Given the description of an element on the screen output the (x, y) to click on. 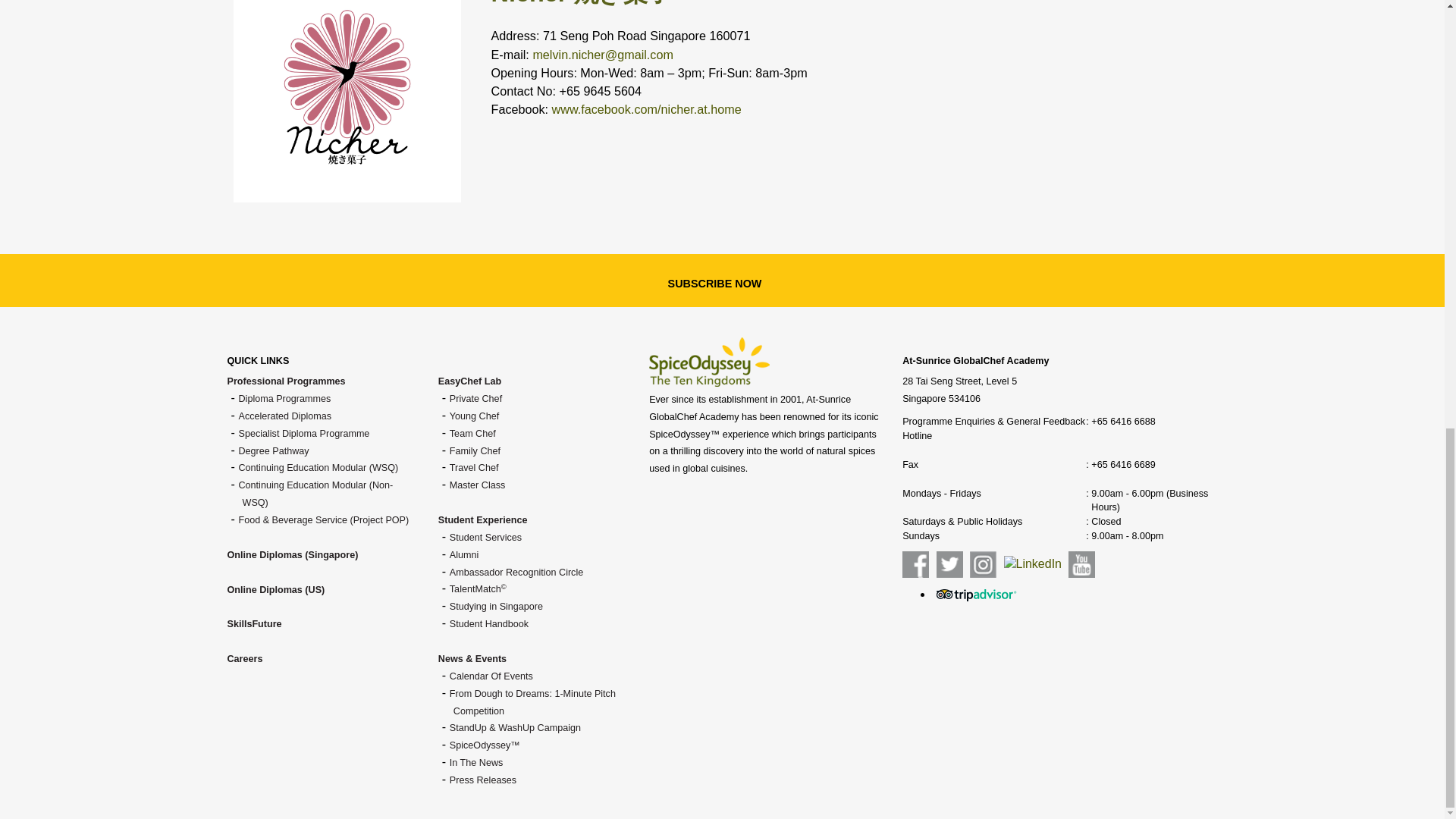
SpiceOdyssey (709, 361)
